Given the description of an element on the screen output the (x, y) to click on. 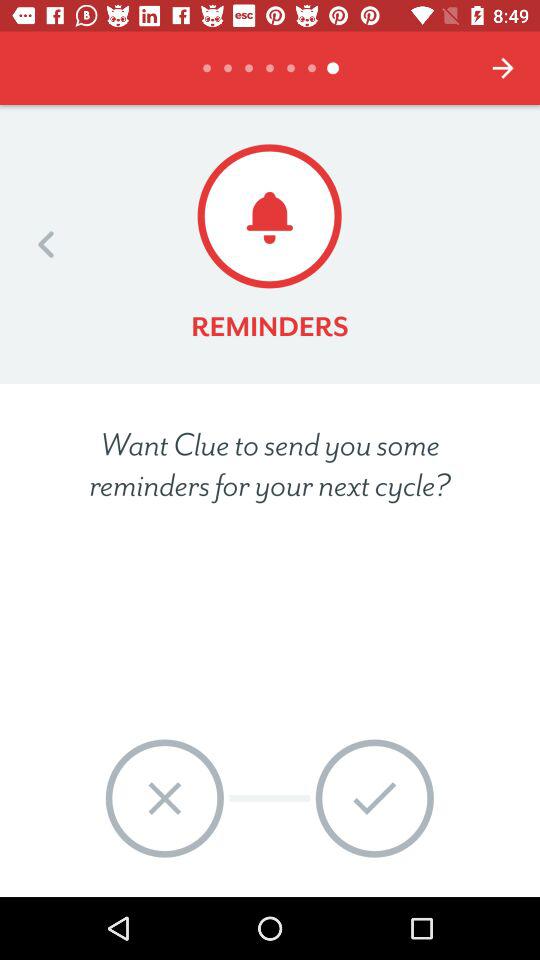
turn on the item below the want clue to icon (164, 798)
